Given the description of an element on the screen output the (x, y) to click on. 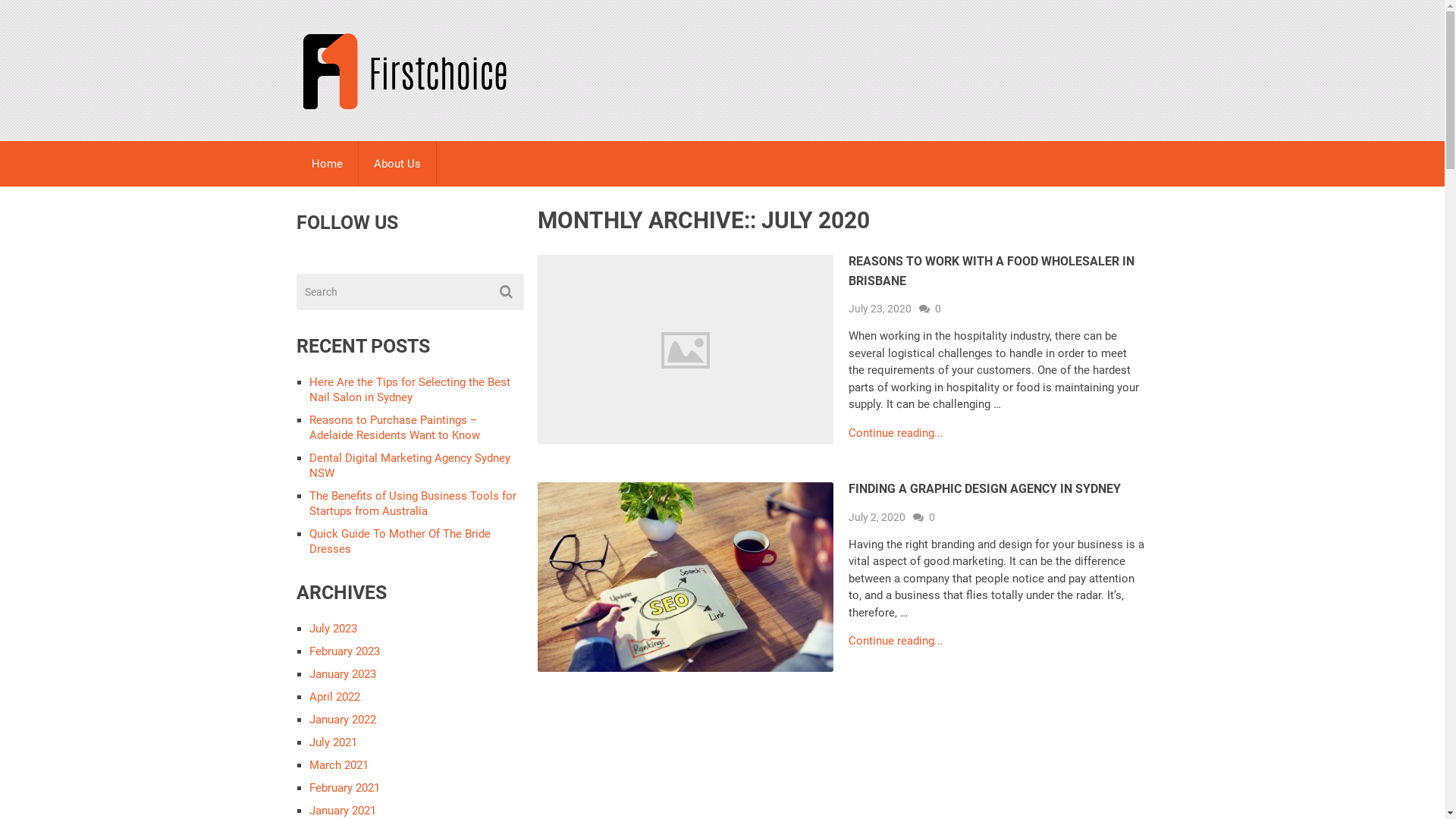
REASONS TO WORK WITH A FOOD WHOLESALER IN BRISBANE Element type: text (991, 270)
February 2023 Element type: text (344, 651)
January 2021 Element type: text (342, 810)
0 Element type: text (931, 517)
February 2021 Element type: text (344, 787)
January 2023 Element type: text (342, 673)
July 2023 Element type: text (333, 628)
Continue reading... Element type: text (895, 433)
July 2021 Element type: text (333, 742)
March 2021 Element type: text (338, 764)
January 2022 Element type: text (342, 719)
0 Element type: text (937, 308)
Quick Guide To Mother Of The Bride Dresses Element type: text (399, 541)
Dental Digital Marketing Agency Sydney NSW Element type: text (409, 465)
FINDING A GRAPHIC DESIGN AGENCY IN SYDNEY Element type: text (984, 488)
Home Element type: text (326, 163)
April 2022 Element type: text (334, 696)
About Us Element type: text (396, 163)
Continue reading... Element type: text (895, 640)
